Given the description of an element on the screen output the (x, y) to click on. 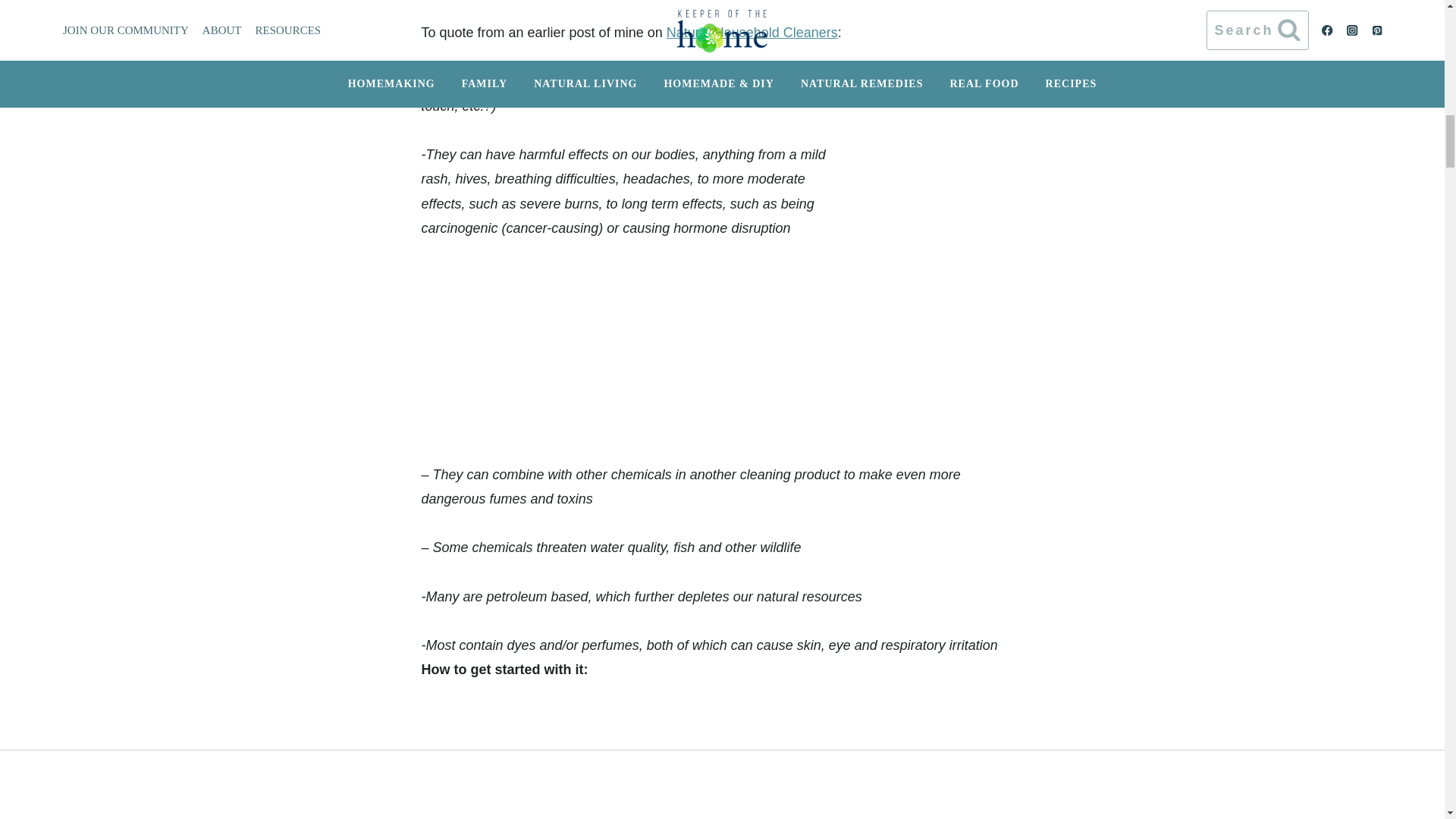
Natural Household Cleaners (752, 32)
